Given the description of an element on the screen output the (x, y) to click on. 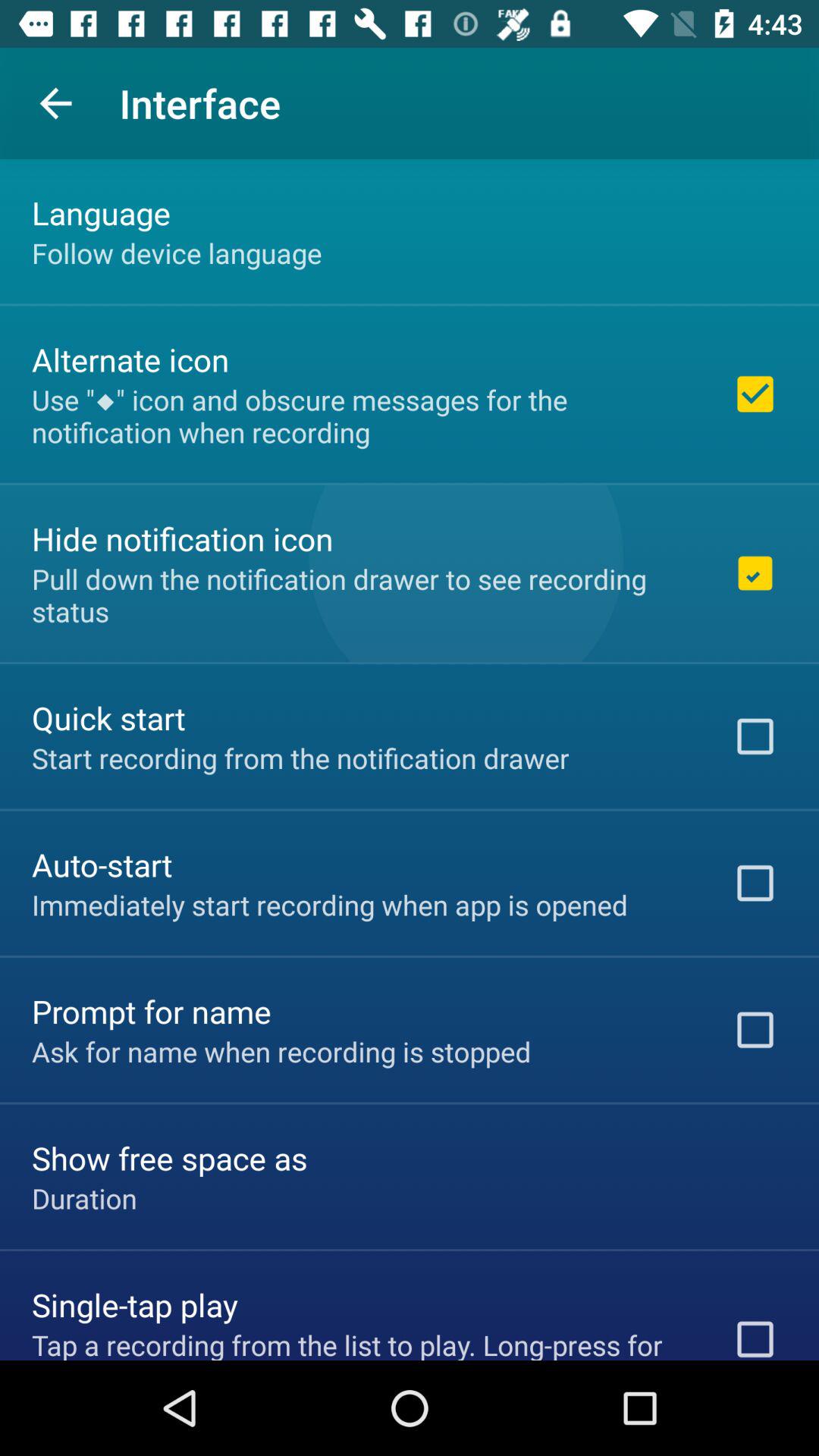
scroll until duration (84, 1198)
